Given the description of an element on the screen output the (x, y) to click on. 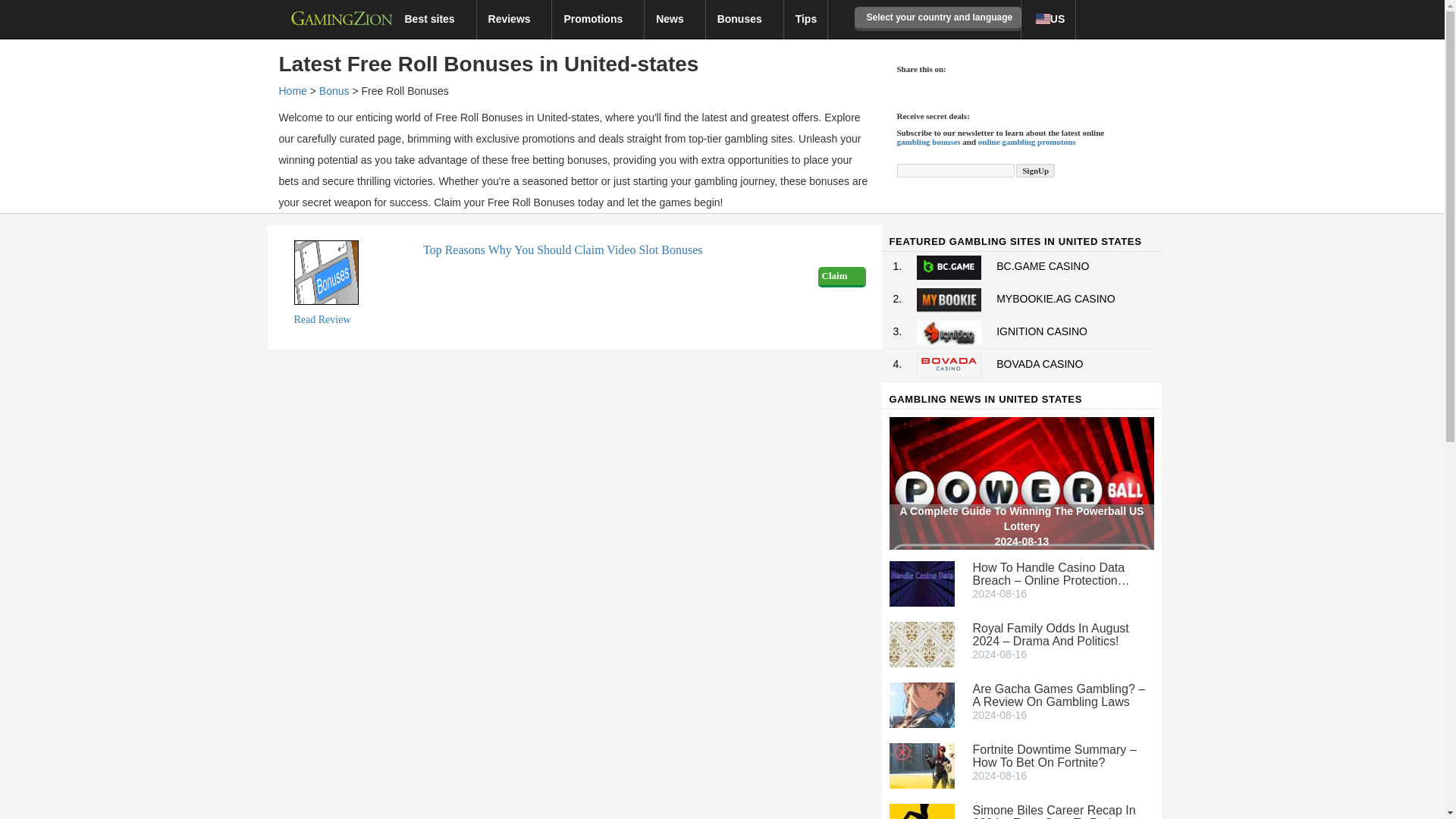
Best sites (434, 18)
Reviews (515, 18)
Promotions (598, 18)
Reviews (515, 18)
Bonuses (745, 18)
Best sites (434, 18)
News (674, 18)
